Given the description of an element on the screen output the (x, y) to click on. 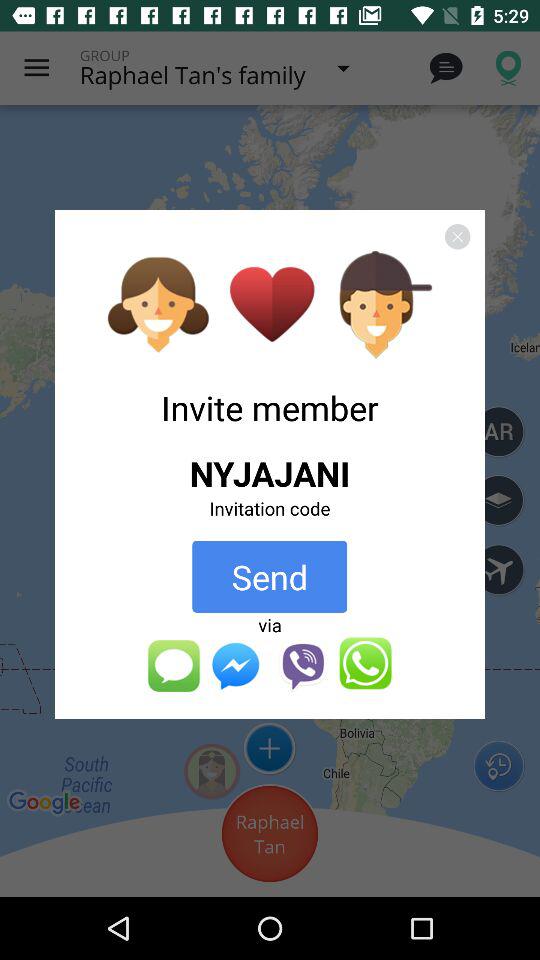
open the via app (269, 624)
